Given the description of an element on the screen output the (x, y) to click on. 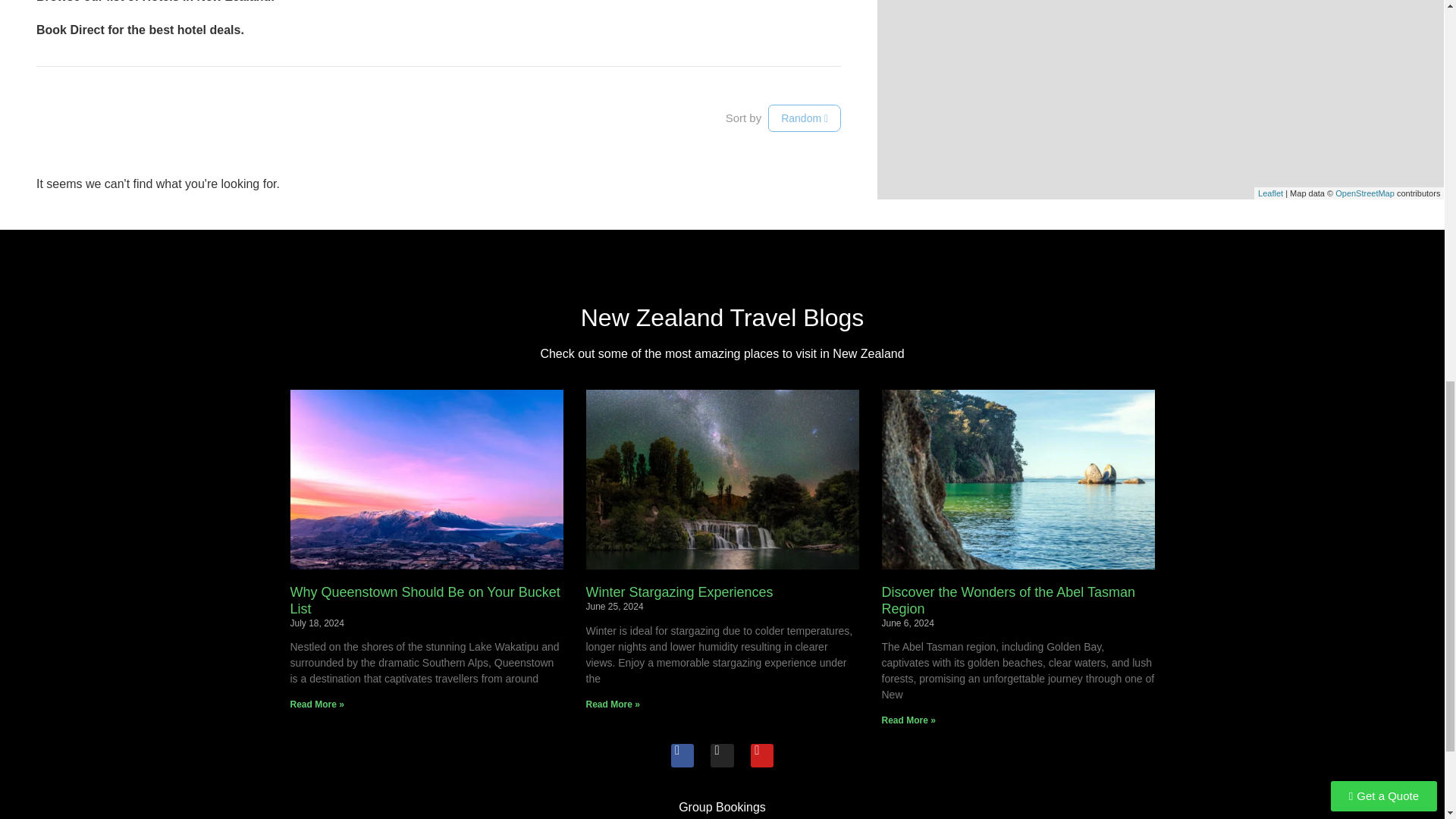
A JS library for interactive maps (1269, 193)
